Given the description of an element on the screen output the (x, y) to click on. 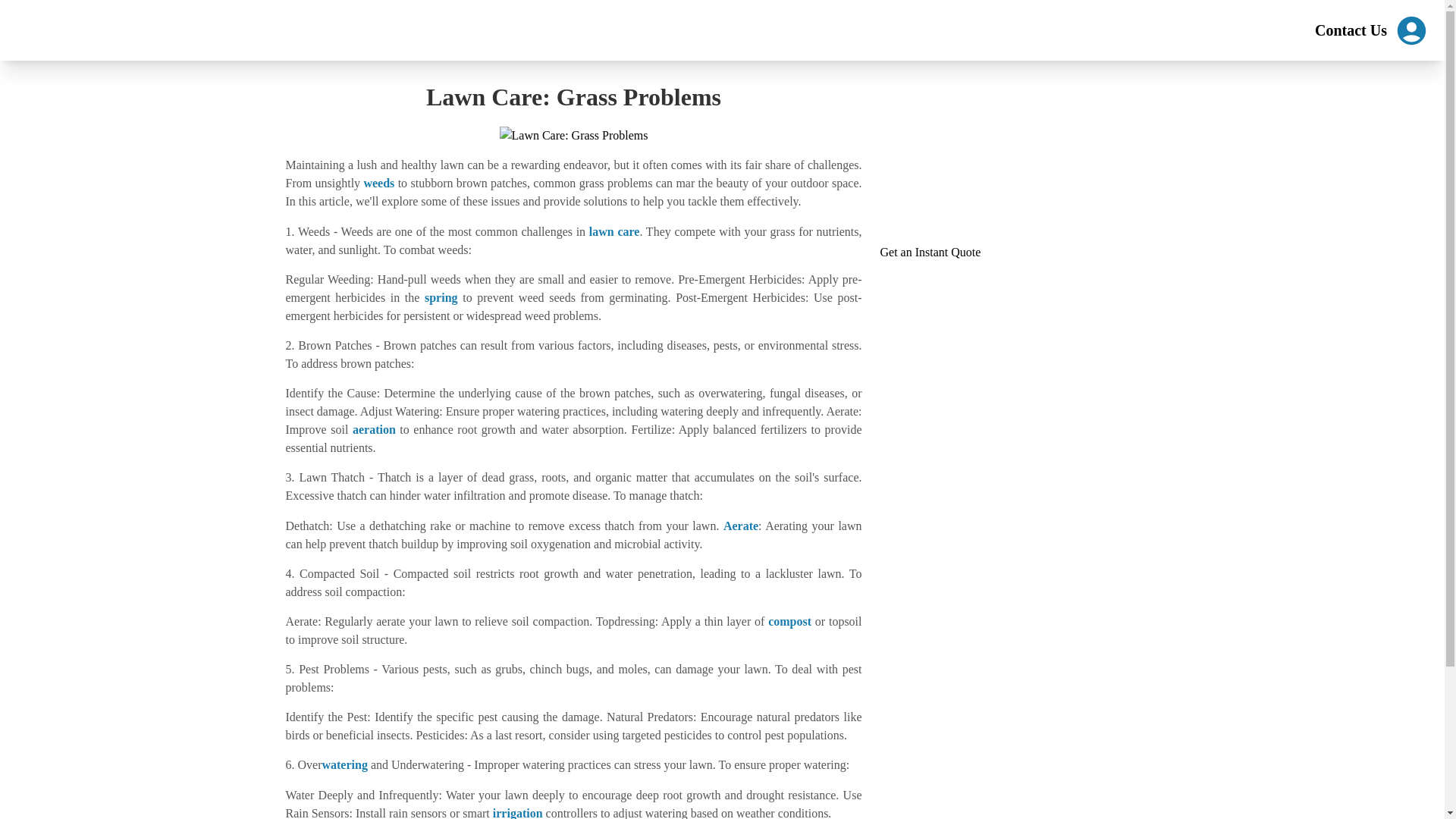
Get an Instant Quote (929, 252)
weeds (378, 182)
lawn care (614, 231)
Aerate (740, 524)
watering (343, 764)
Contact Us (1350, 29)
compost (789, 621)
Get an Instant Quote (929, 251)
spring (441, 297)
aeration (374, 429)
irrigation (518, 812)
